Given the description of an element on the screen output the (x, y) to click on. 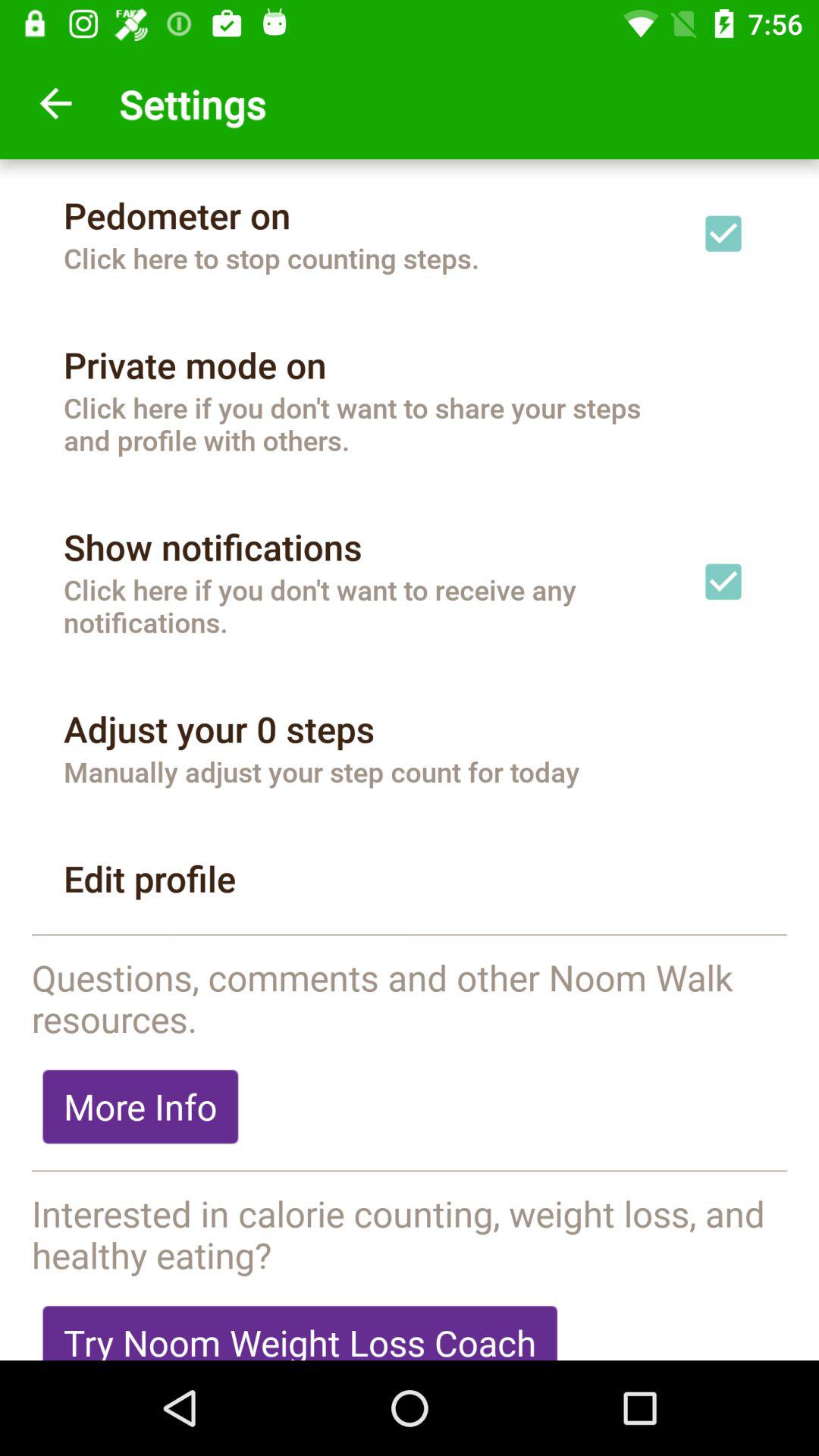
launch the edit profile (149, 878)
